Given the description of an element on the screen output the (x, y) to click on. 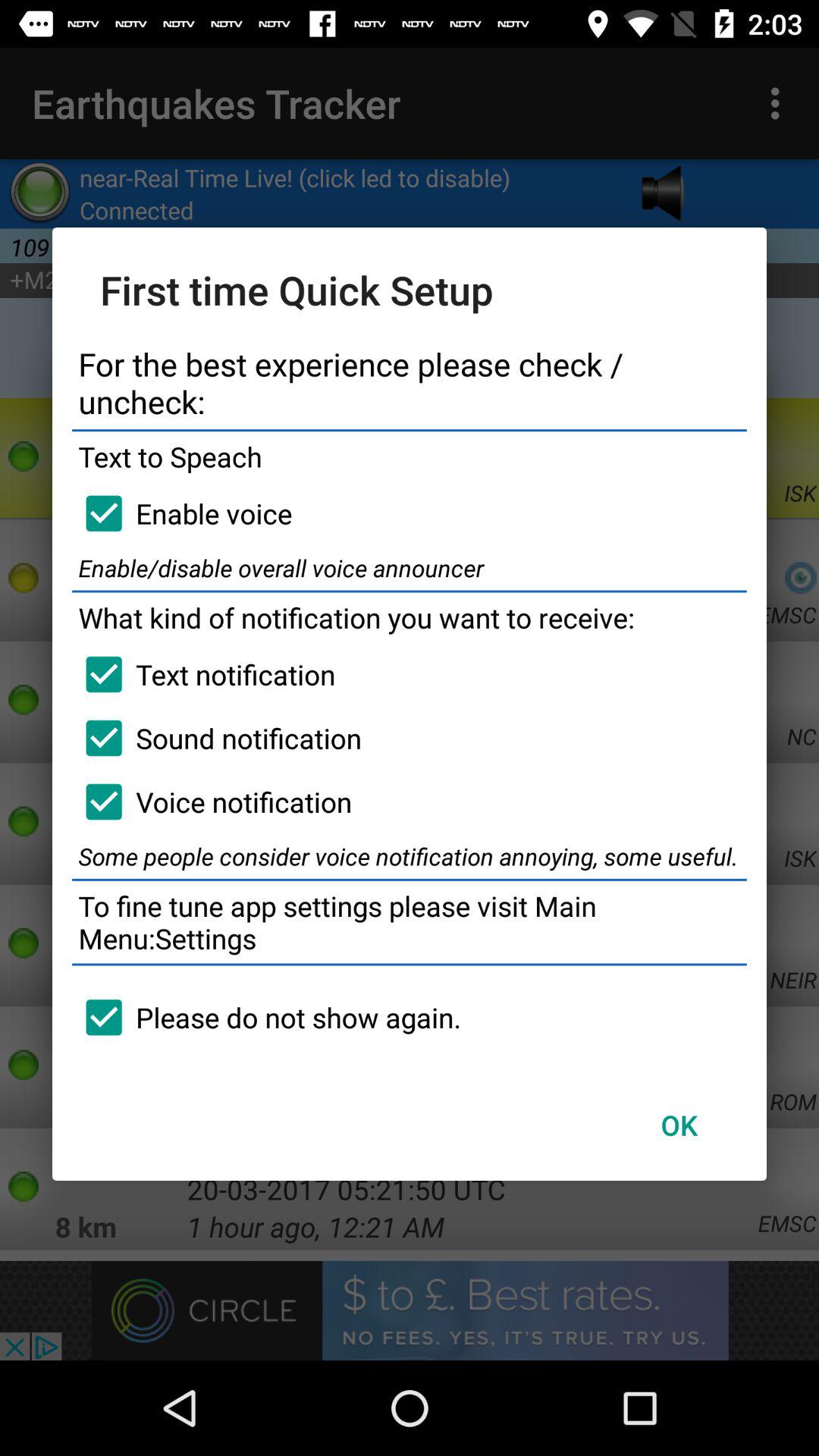
select icon below the text notification item (216, 738)
